Given the description of an element on the screen output the (x, y) to click on. 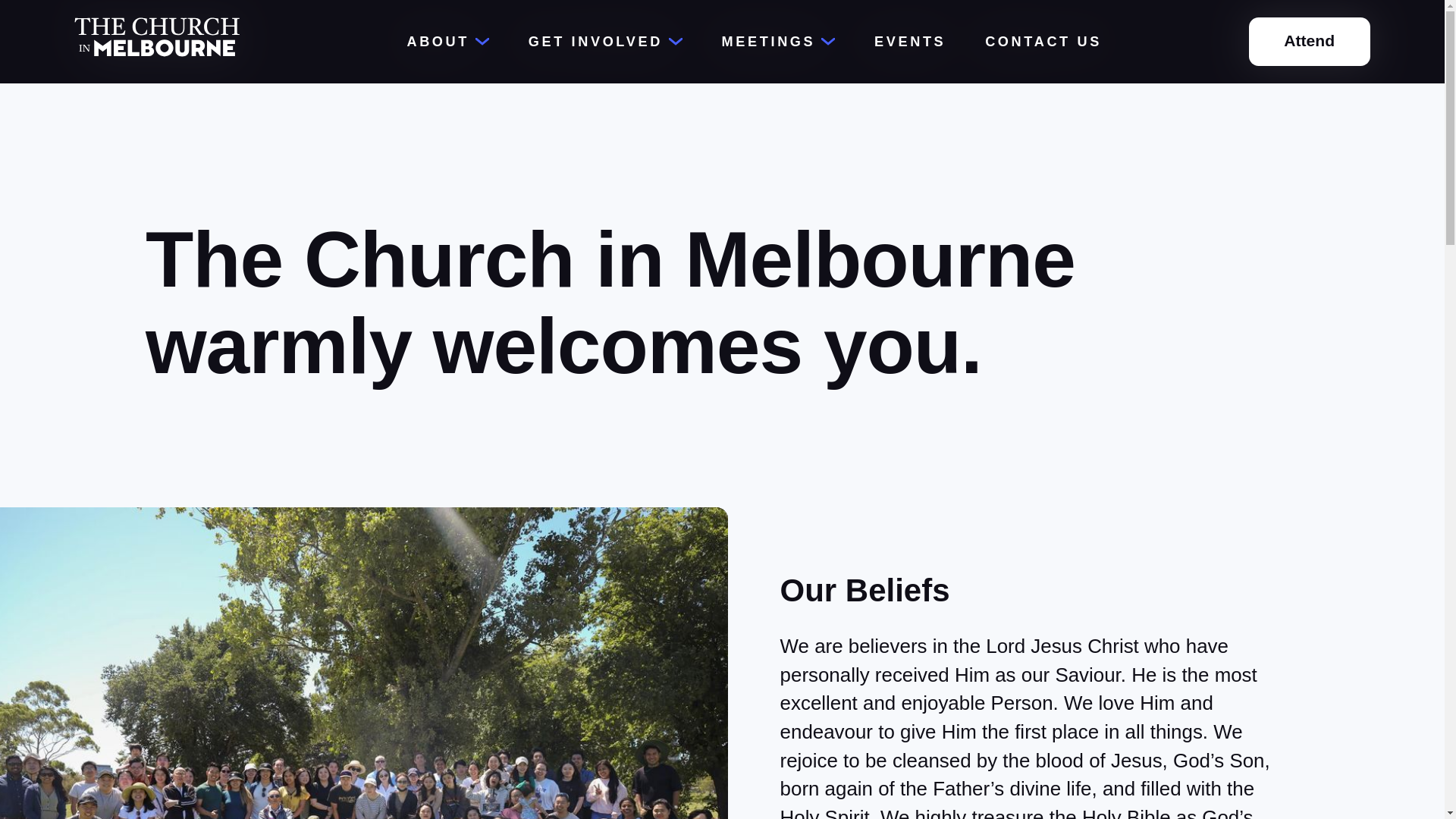
CONTACT US Element type: text (1041, 41)
CONTACT US Element type: text (1043, 41)
EVENTS Element type: text (907, 41)
Attend Element type: text (1309, 41)
EVENTS Element type: text (909, 41)
